Given the description of an element on the screen output the (x, y) to click on. 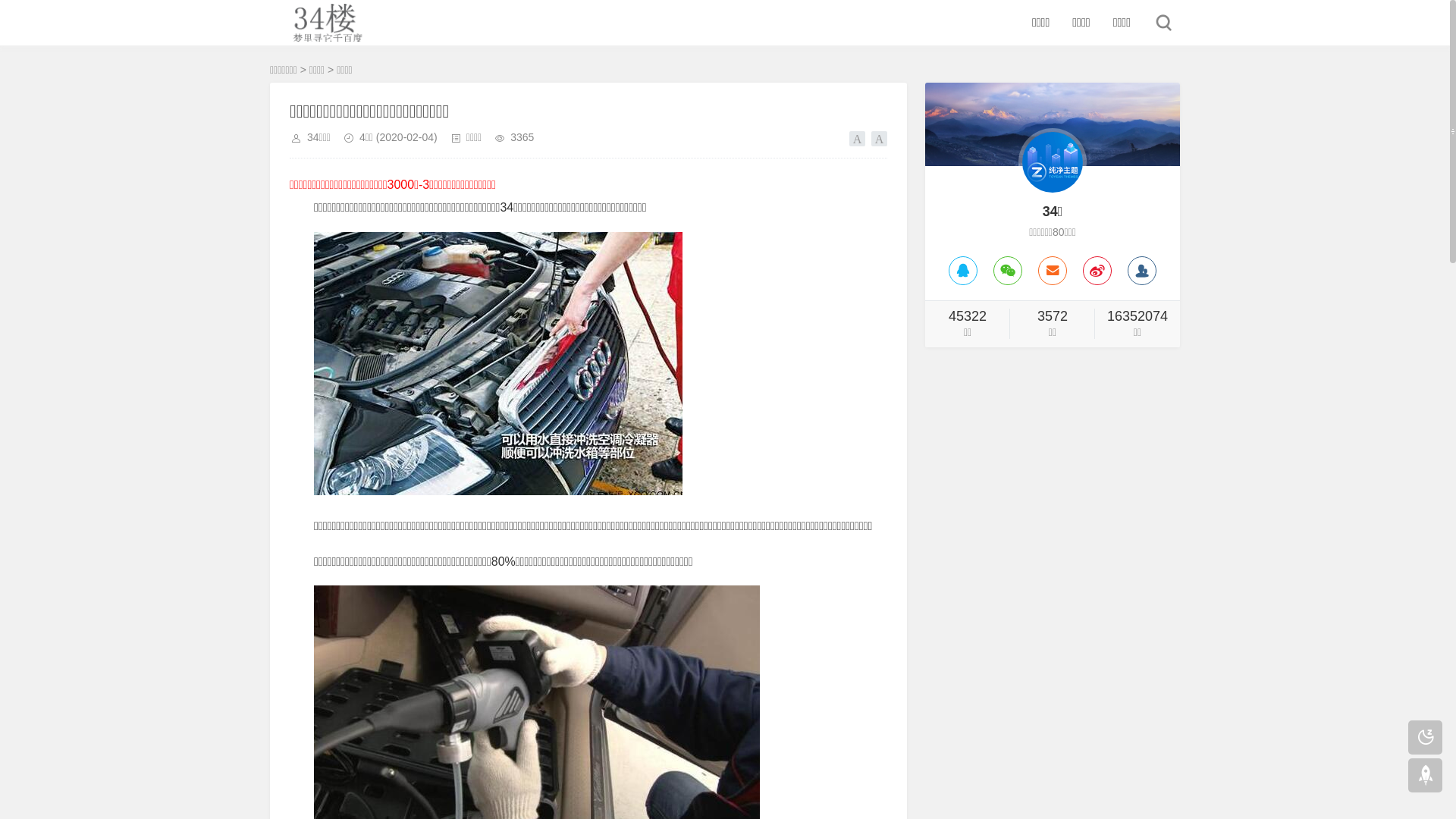
QQ Element type: hover (962, 270)
